Given the description of an element on the screen output the (x, y) to click on. 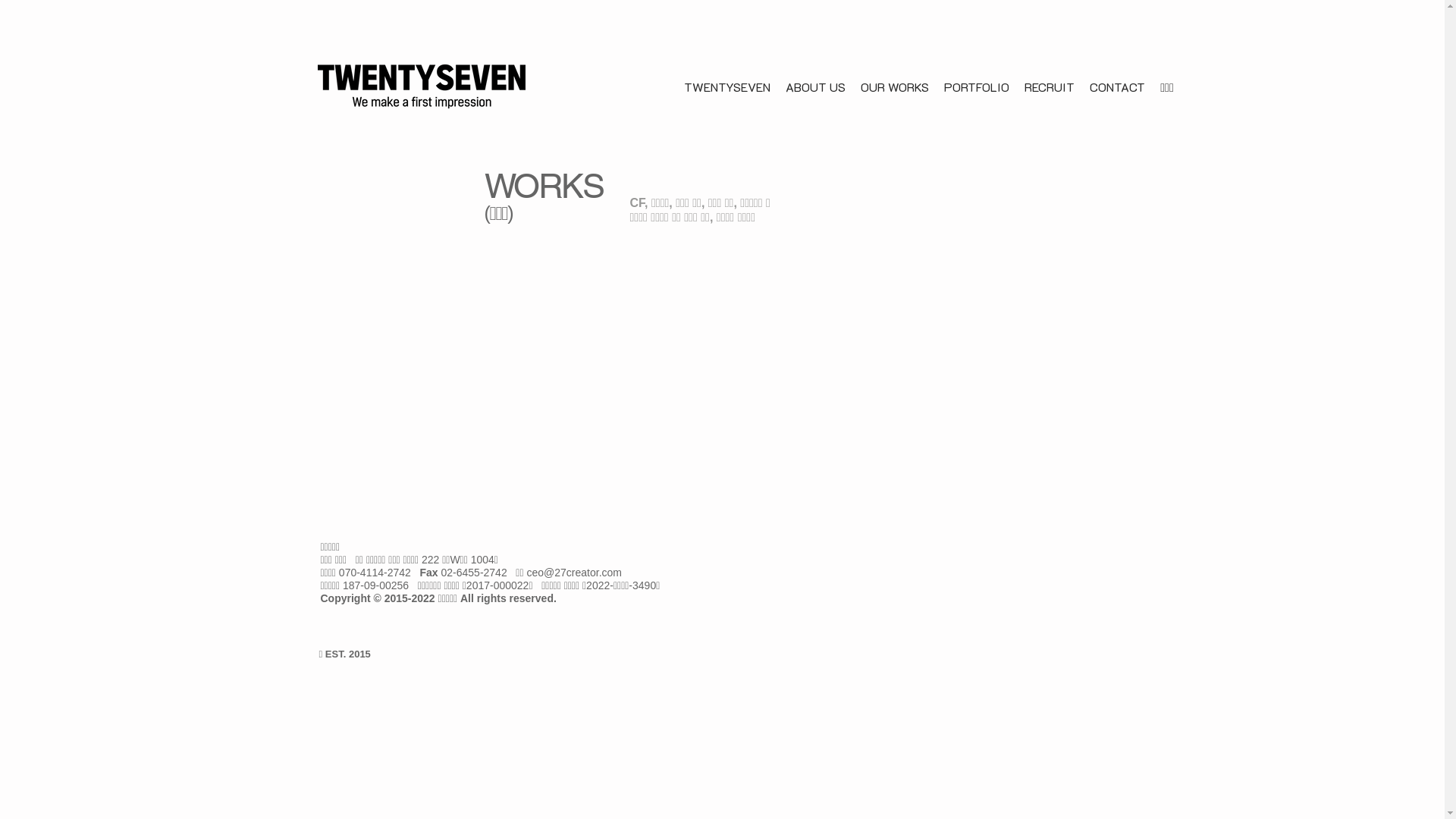
OUR WORKS Element type: text (894, 96)
ceo@27creator.com Element type: text (573, 572)
PORTFOLIO Element type: text (976, 96)
CONTACT Element type: text (1117, 96)
TWENTYSEVEN Element type: text (727, 96)
ABOUT US Element type: text (815, 96)
RECRUIT Element type: text (1049, 96)
